Given the description of an element on the screen output the (x, y) to click on. 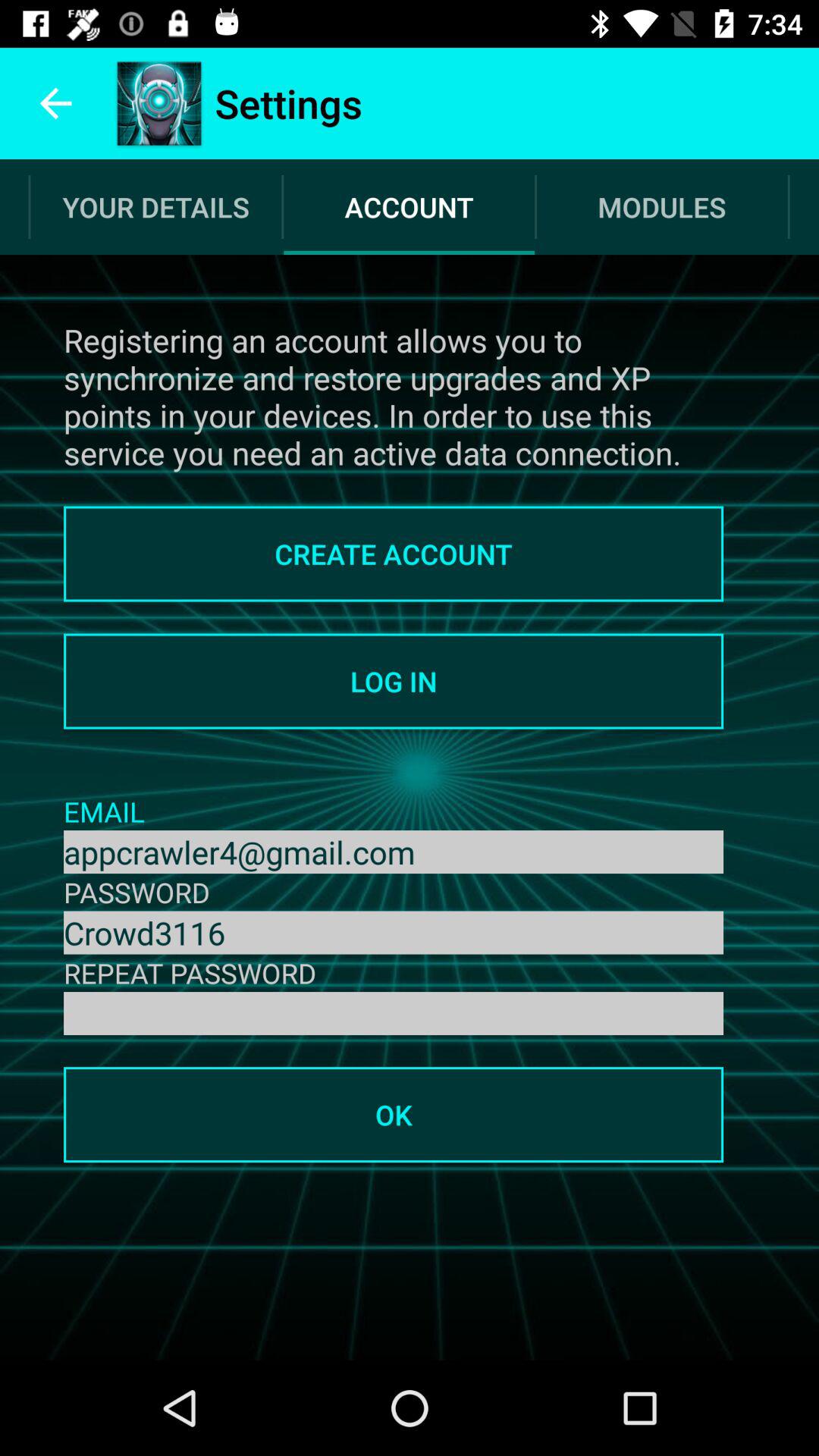
select the sign in (393, 1013)
